Given the description of an element on the screen output the (x, y) to click on. 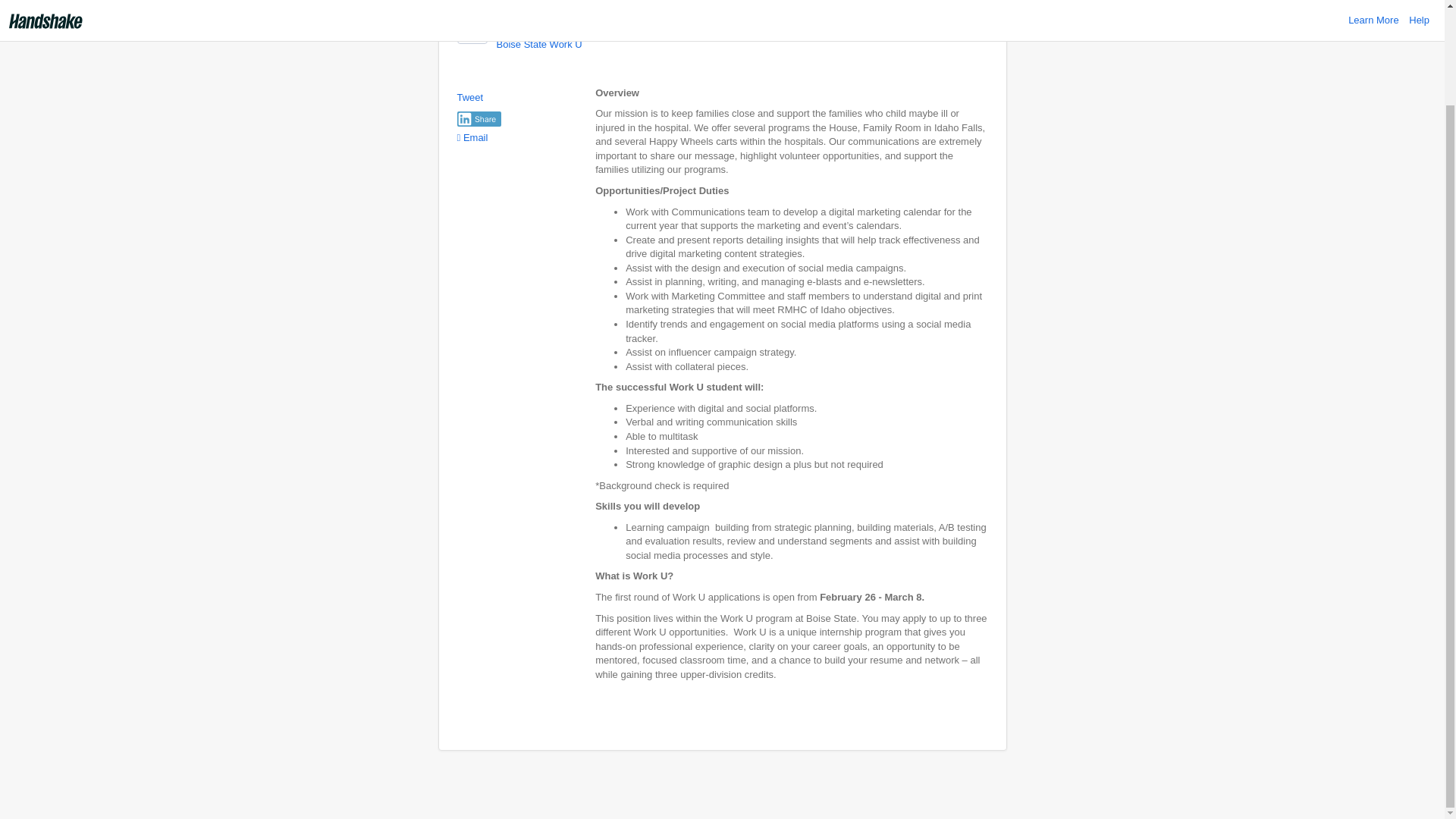
Share (478, 118)
Email (472, 137)
Share by Email (472, 137)
Boise State Work U (538, 43)
Tweet (470, 97)
